Given the description of an element on the screen output the (x, y) to click on. 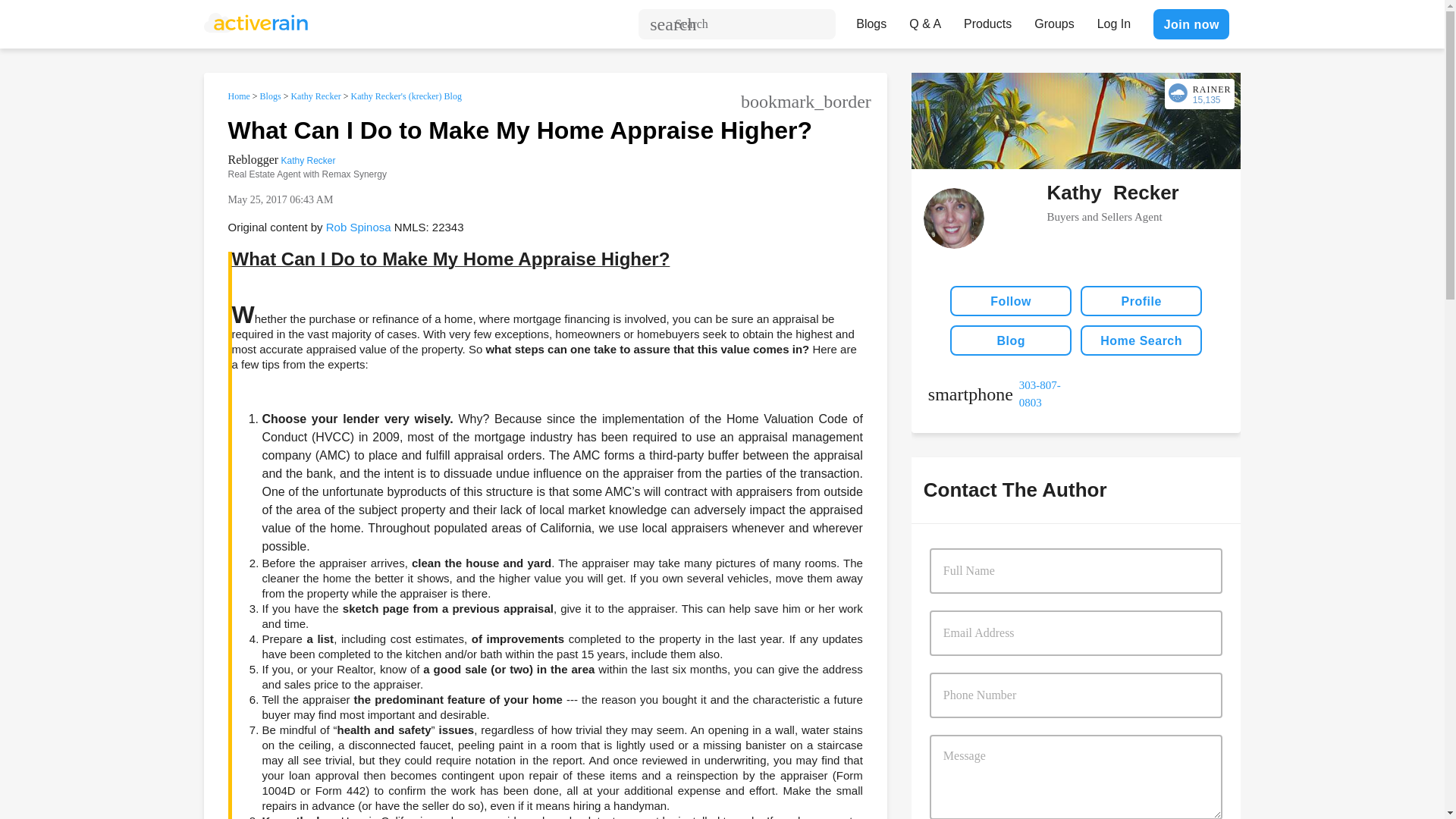
Blogs (870, 19)
Blogs (270, 95)
Join now (1190, 24)
Home (237, 95)
Rob Spinosa (358, 226)
Kathy Recker (314, 95)
cell (1001, 393)
Groups (1053, 19)
Kathy Recker (307, 160)
What Can I Do to Make My Home Appraise Higher? (518, 130)
